Given the description of an element on the screen output the (x, y) to click on. 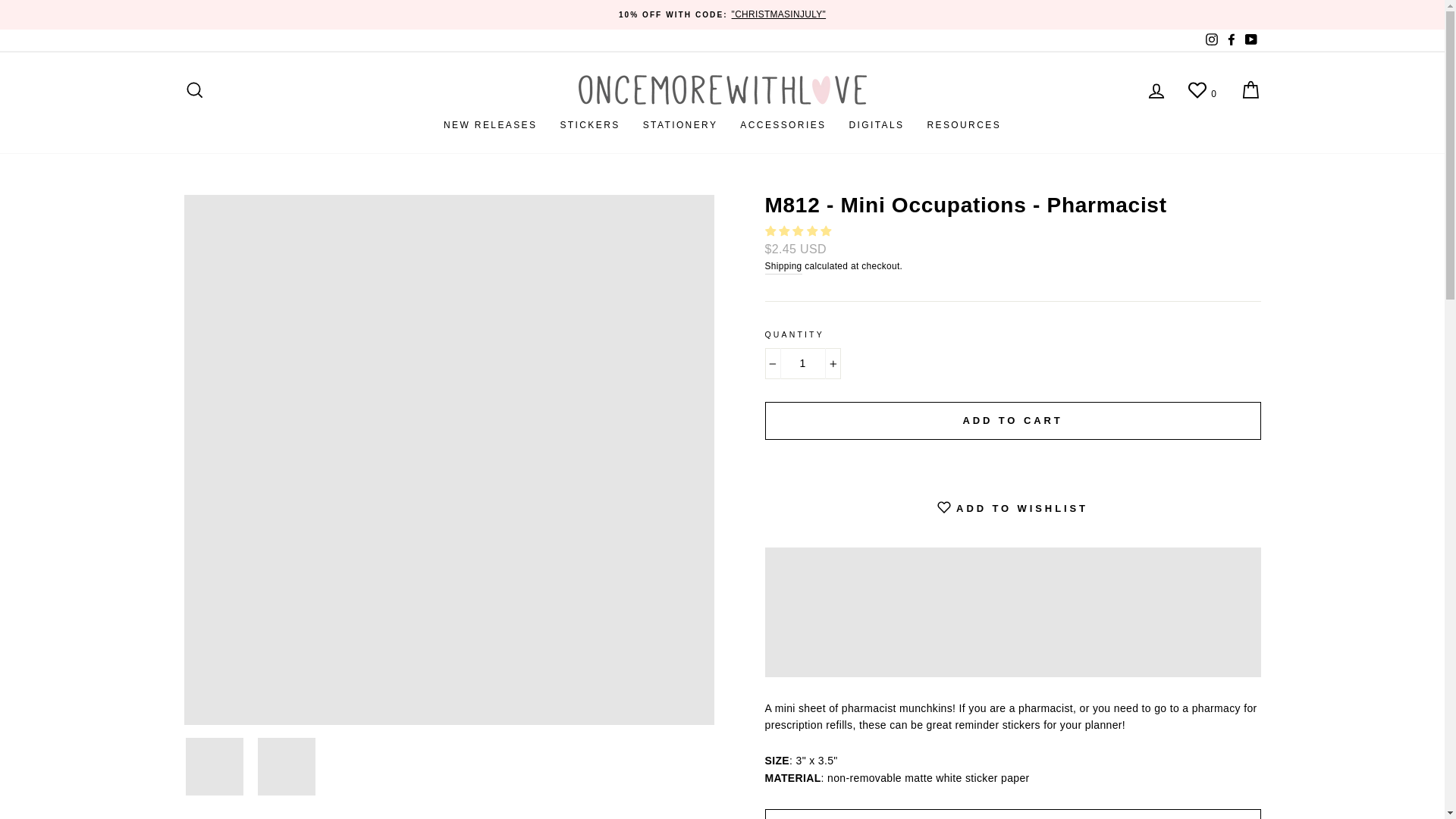
OnceMoreWithLove on Instagram (1211, 40)
OnceMoreWithLove on YouTube (1250, 40)
1 (802, 363)
OnceMoreWithLove on Facebook (1230, 40)
